Given the description of an element on the screen output the (x, y) to click on. 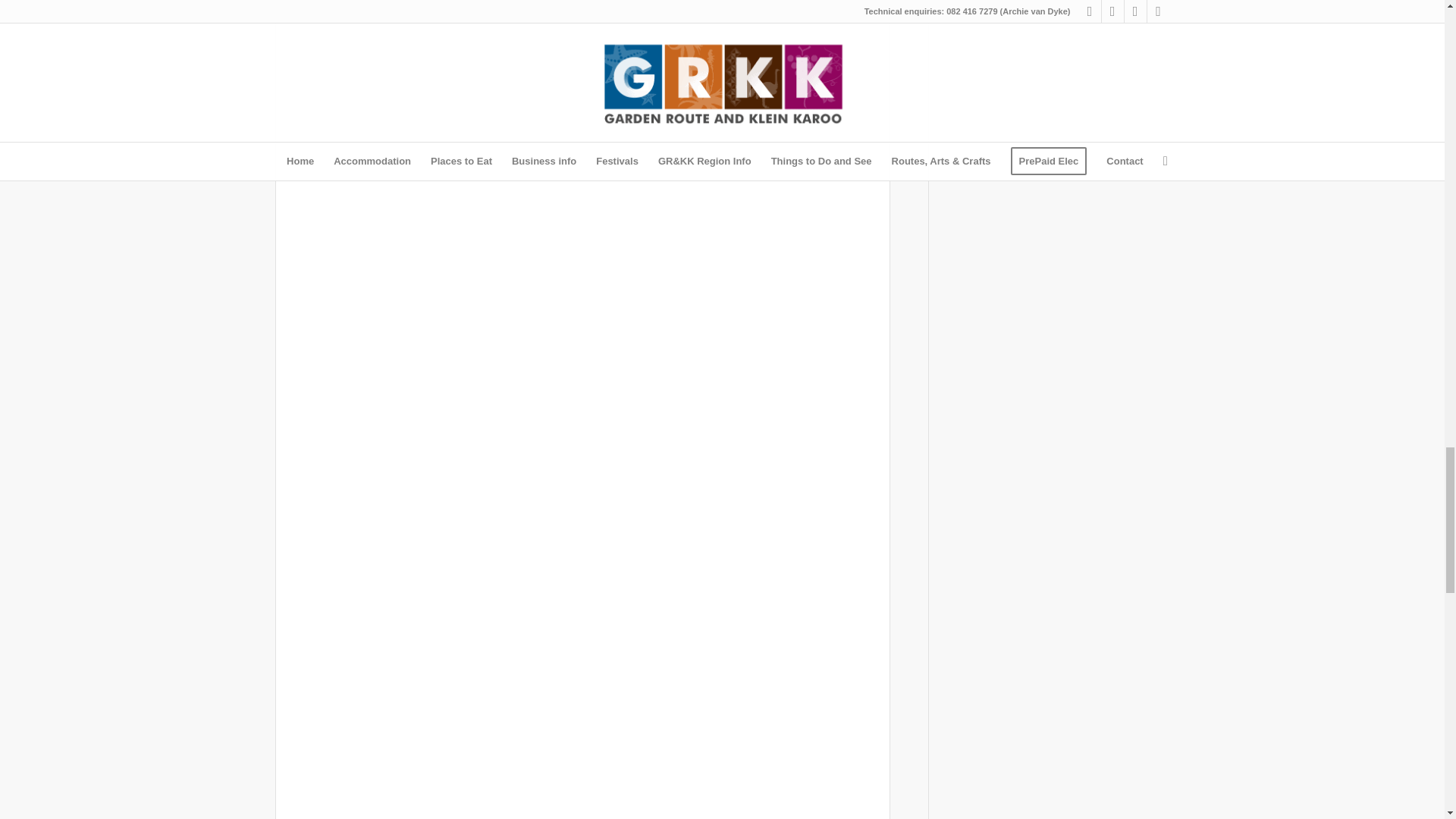
Exquisite Cottage20 Master Bedroom patio (531, 693)
Exquisite Cottage20 Master Bed (531, 100)
